Given the description of an element on the screen output the (x, y) to click on. 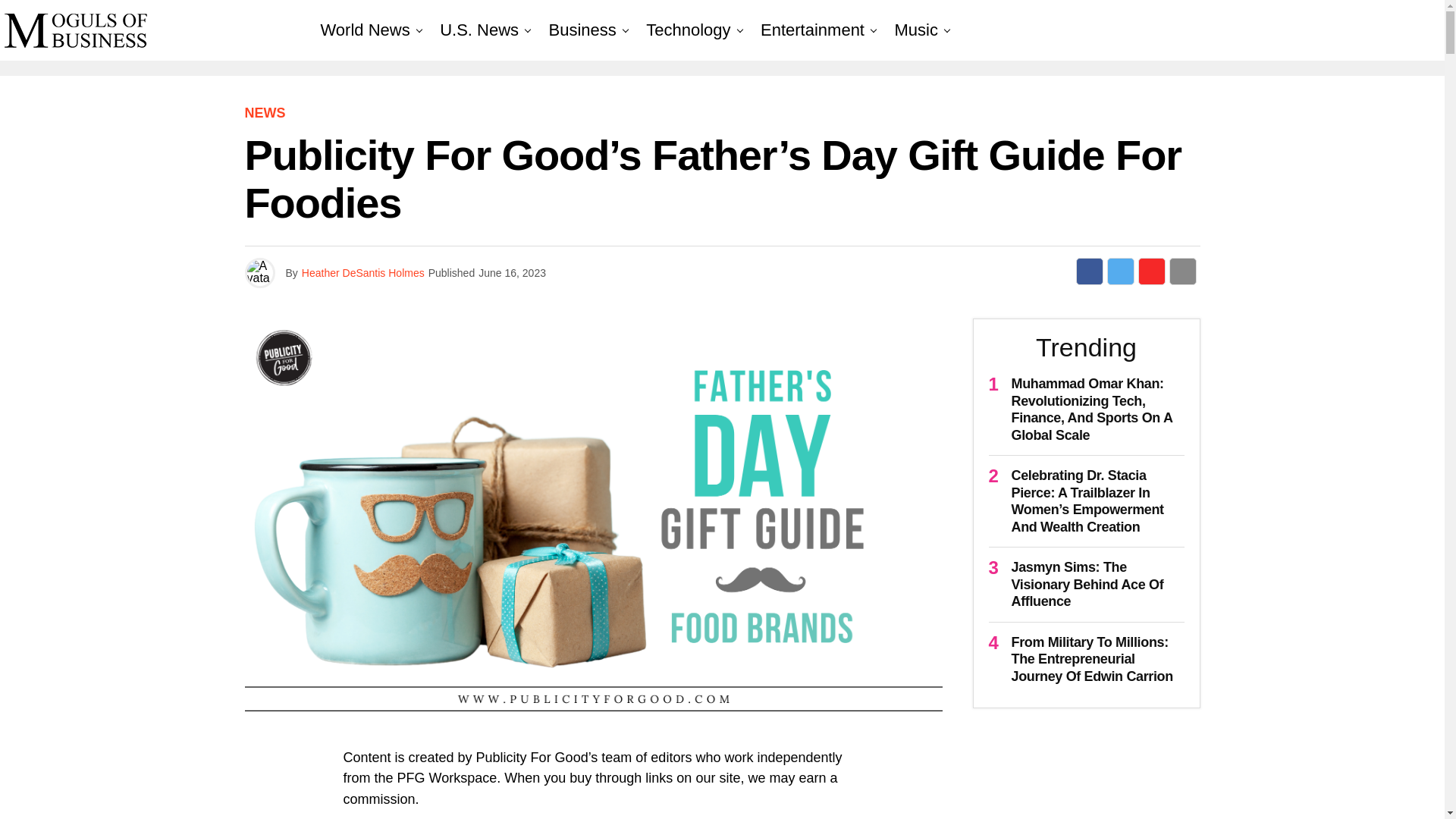
Share on Flipboard (1150, 271)
Posts by Heather DeSantis Holmes (363, 272)
Entertainment (812, 30)
U.S. News (478, 30)
Technology (688, 30)
Share on Facebook (1088, 271)
Business (582, 30)
World News (364, 30)
Music (915, 30)
Tweet This Post (1120, 271)
